Given the description of an element on the screen output the (x, y) to click on. 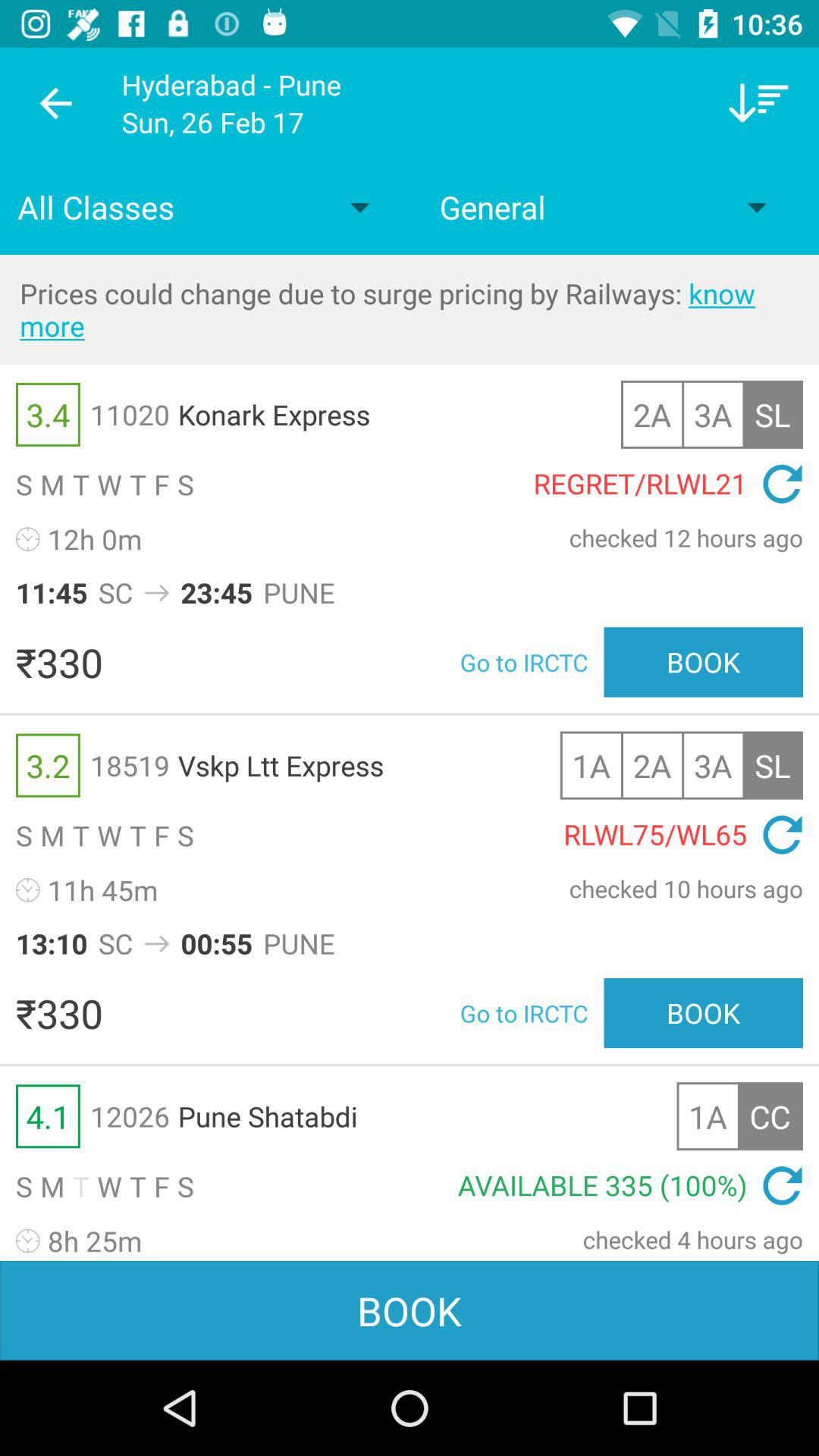
click to lower volume (758, 103)
